Given the description of an element on the screen output the (x, y) to click on. 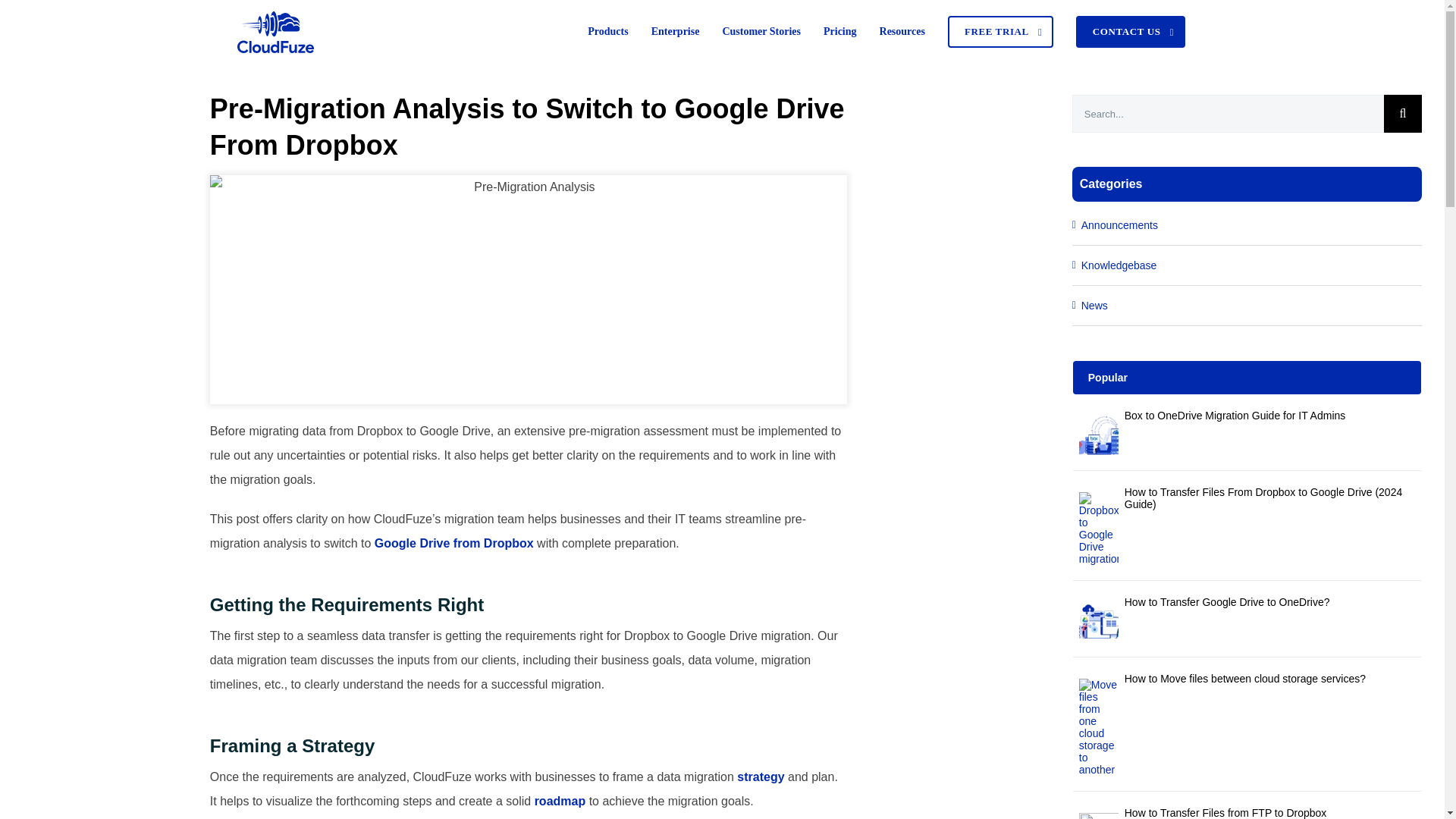
Google Drive from Dropbox (454, 543)
FREE TRIAL (999, 31)
Customer Stories (761, 31)
roadmap (560, 800)
strategy (761, 776)
CONTACT US (1130, 31)
